Given the description of an element on the screen output the (x, y) to click on. 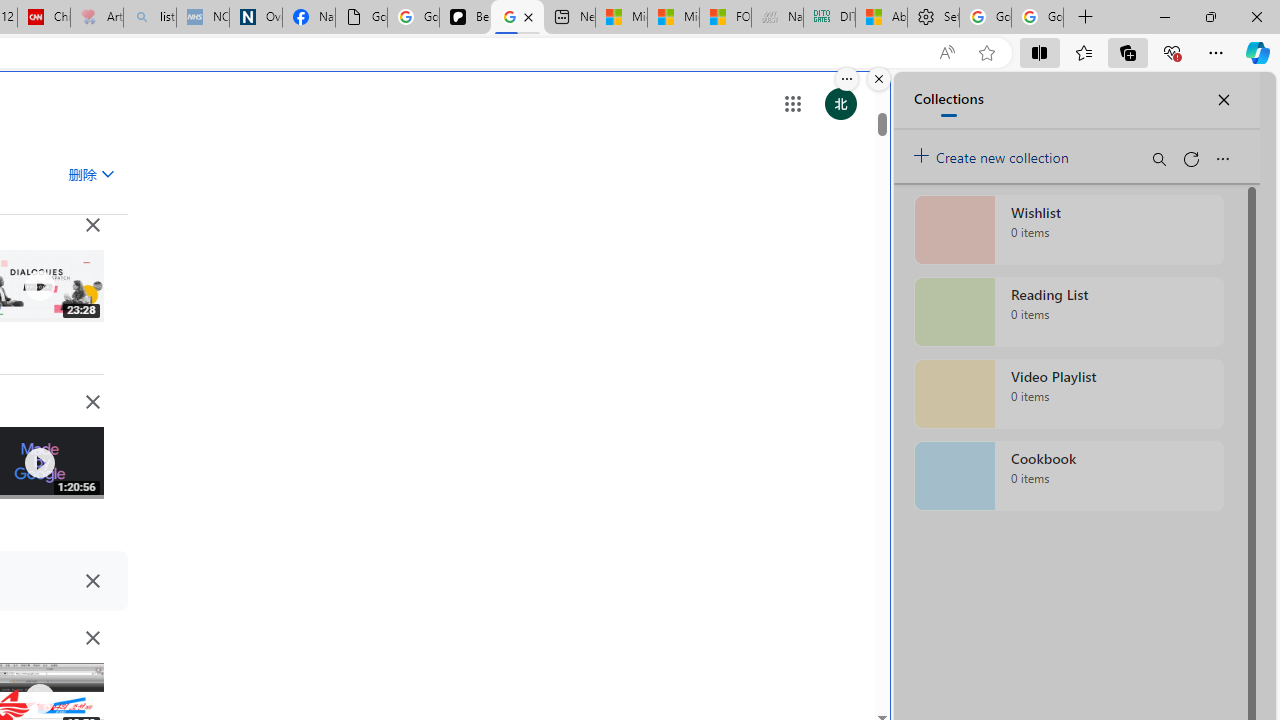
list of asthma inhalers uk - Search - Sleeping (150, 17)
Class: IVR0f NMm5M (38, 699)
Class: DI7Mnf NMm5M (91, 580)
Google Analytics Opt-out Browser Add-on Download Page (360, 17)
Class: asE2Ub NMm5M (107, 173)
